Given the description of an element on the screen output the (x, y) to click on. 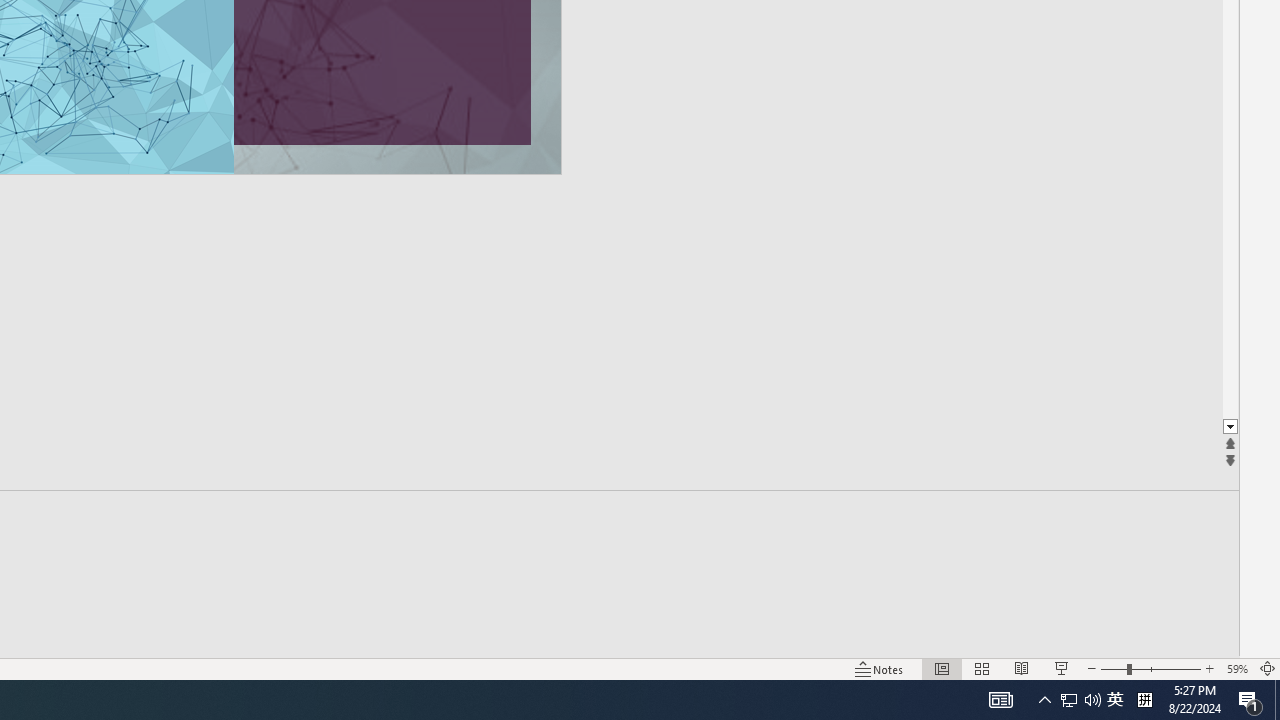
Zoom 59% (1236, 668)
